Given the description of an element on the screen output the (x, y) to click on. 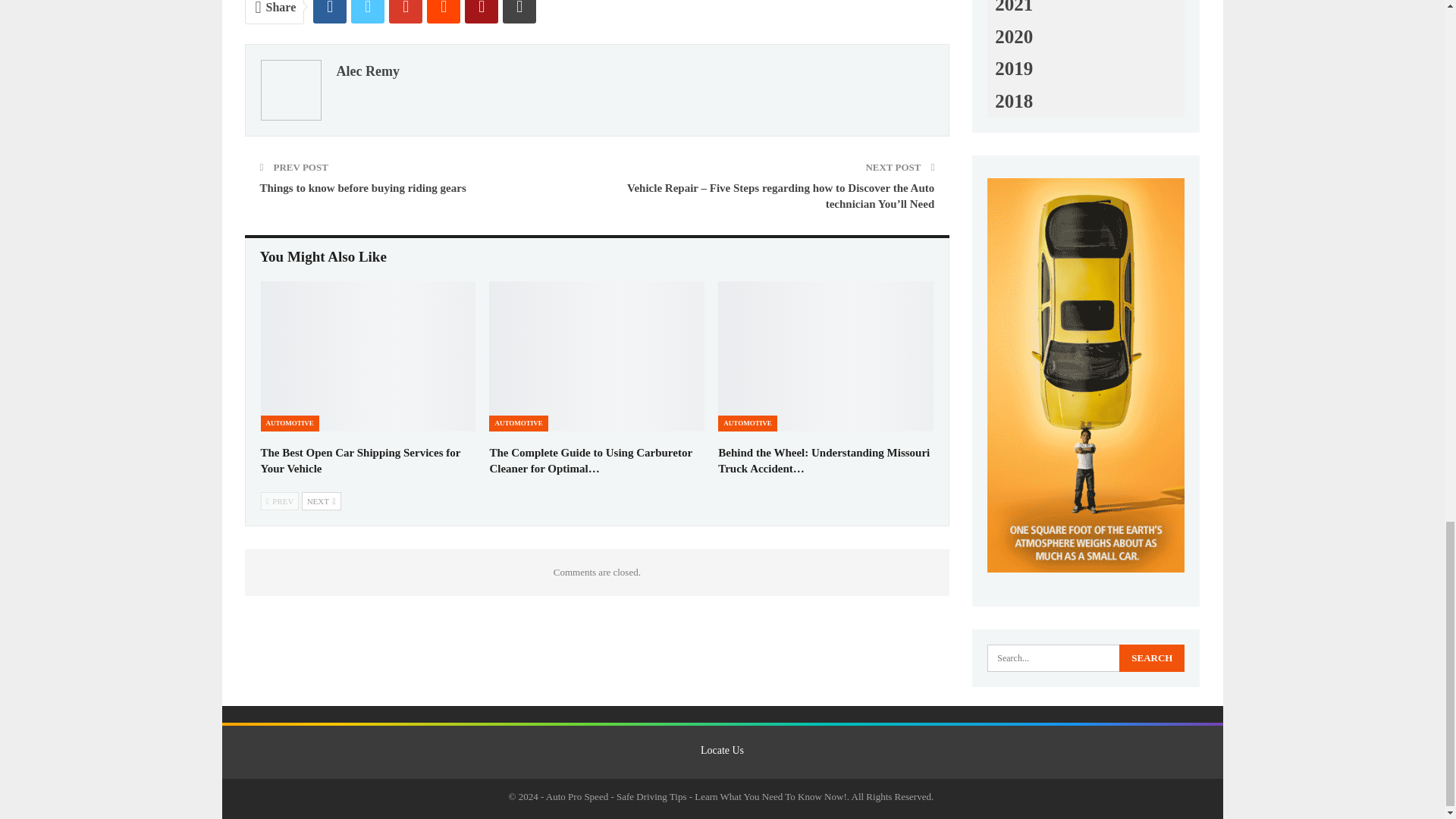
The Best Open Car Shipping Services for Your Vehicle (368, 356)
Previous (279, 501)
The Best Open Car Shipping Services for Your Vehicle (360, 460)
AUTOMOTIVE (289, 423)
Things to know before buying riding gears (362, 187)
Search (1152, 657)
Search (1152, 657)
Alec Remy (367, 70)
You Might Also Like (322, 256)
Next (320, 501)
